Given the description of an element on the screen output the (x, y) to click on. 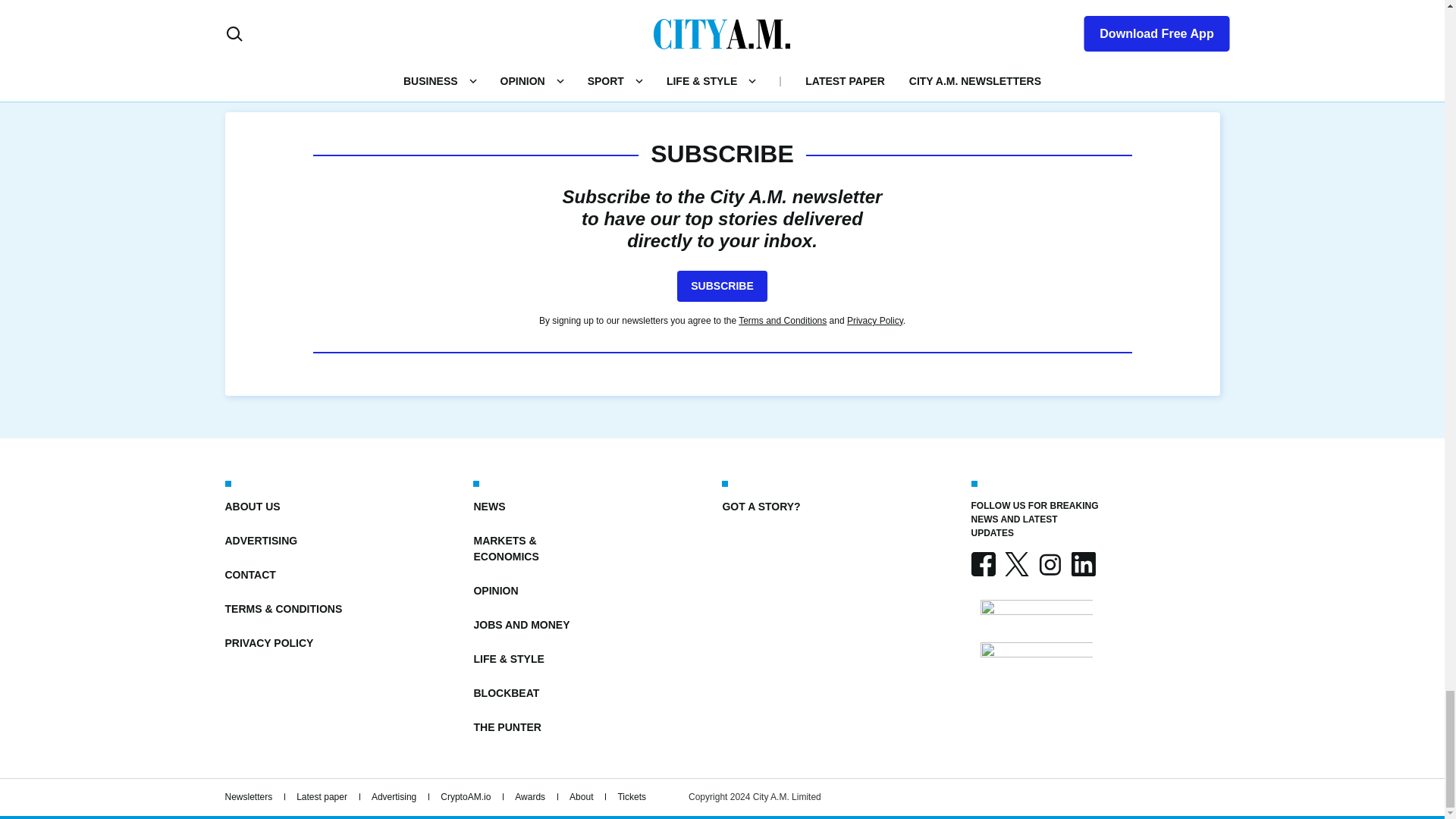
X (1015, 564)
FACEBOOK (982, 564)
LINKEDIN (1082, 564)
INSTAGRAM (1048, 564)
